Given the description of an element on the screen output the (x, y) to click on. 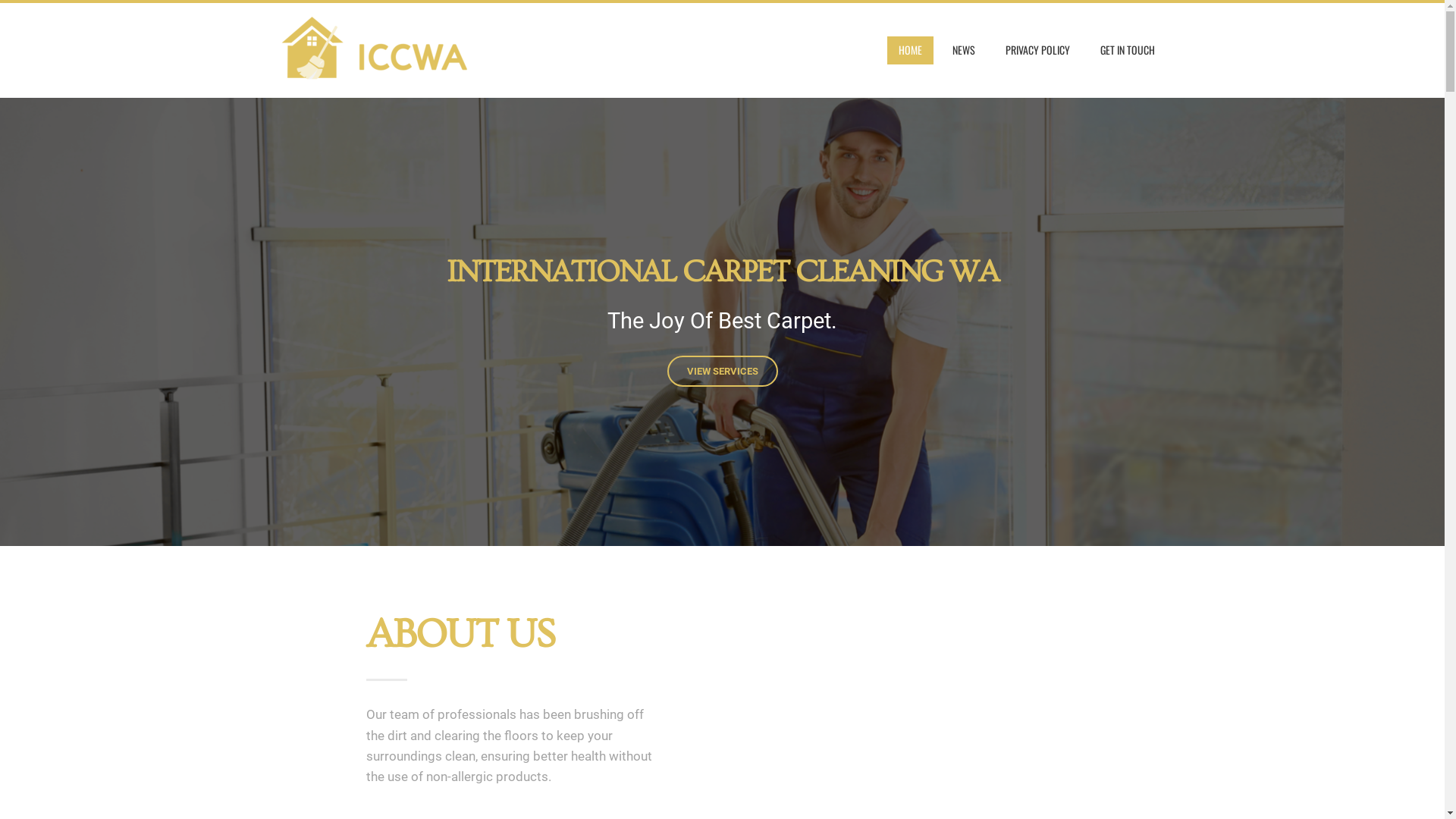
GET IN TOUCH Element type: text (1127, 49)
HOME Element type: text (910, 49)
VIEW SERVICES Element type: text (722, 370)
NEWS Element type: text (962, 49)
PRIVACY POLICY Element type: text (1036, 49)
